Given the description of an element on the screen output the (x, y) to click on. 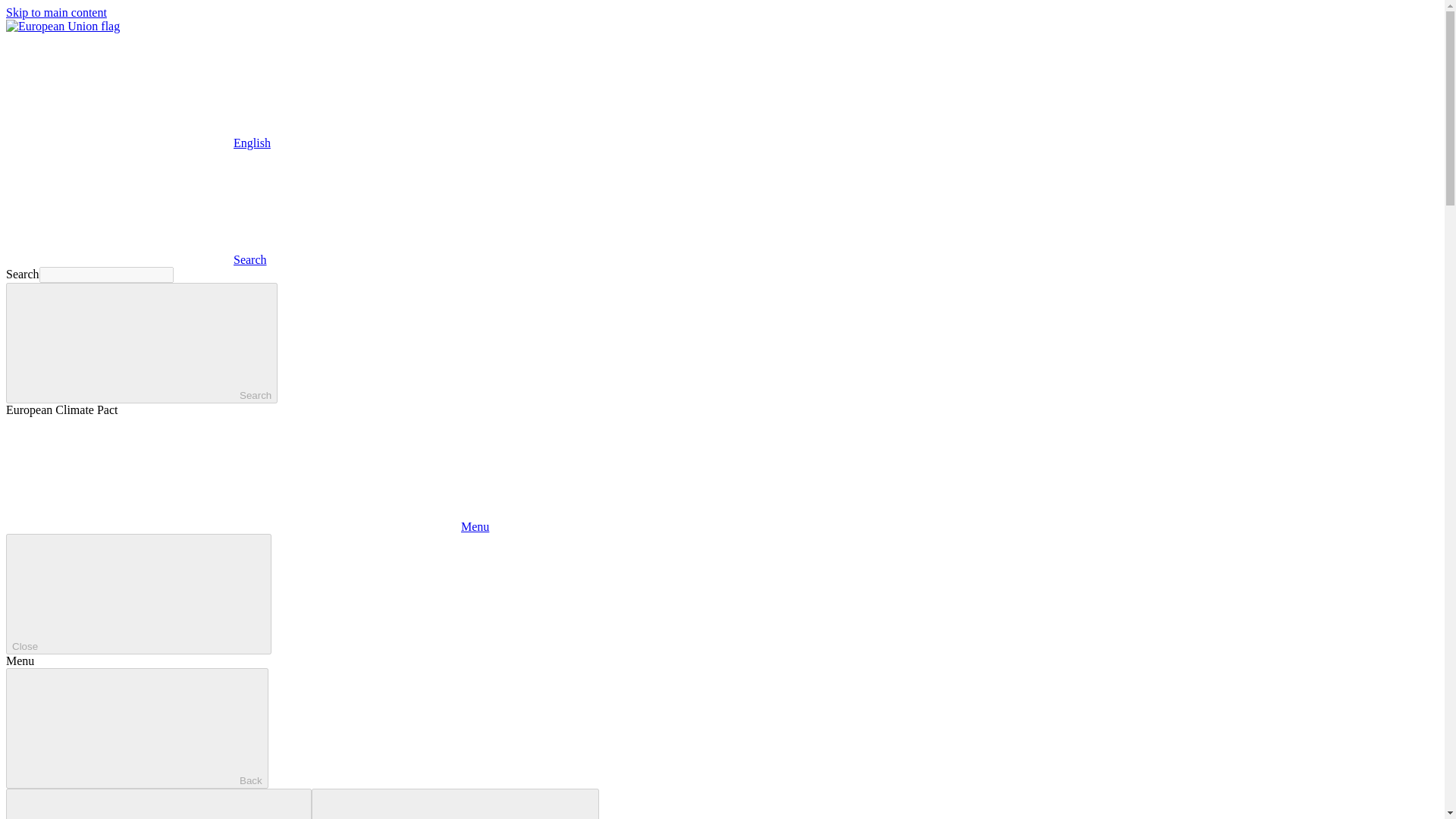
Back (136, 728)
English (118, 90)
Close (137, 593)
Previous items (158, 803)
Menu (247, 526)
Search (141, 342)
EnglishEnglish (137, 142)
European Union (62, 25)
Skip to main content (55, 11)
Next items (454, 803)
